Given the description of an element on the screen output the (x, y) to click on. 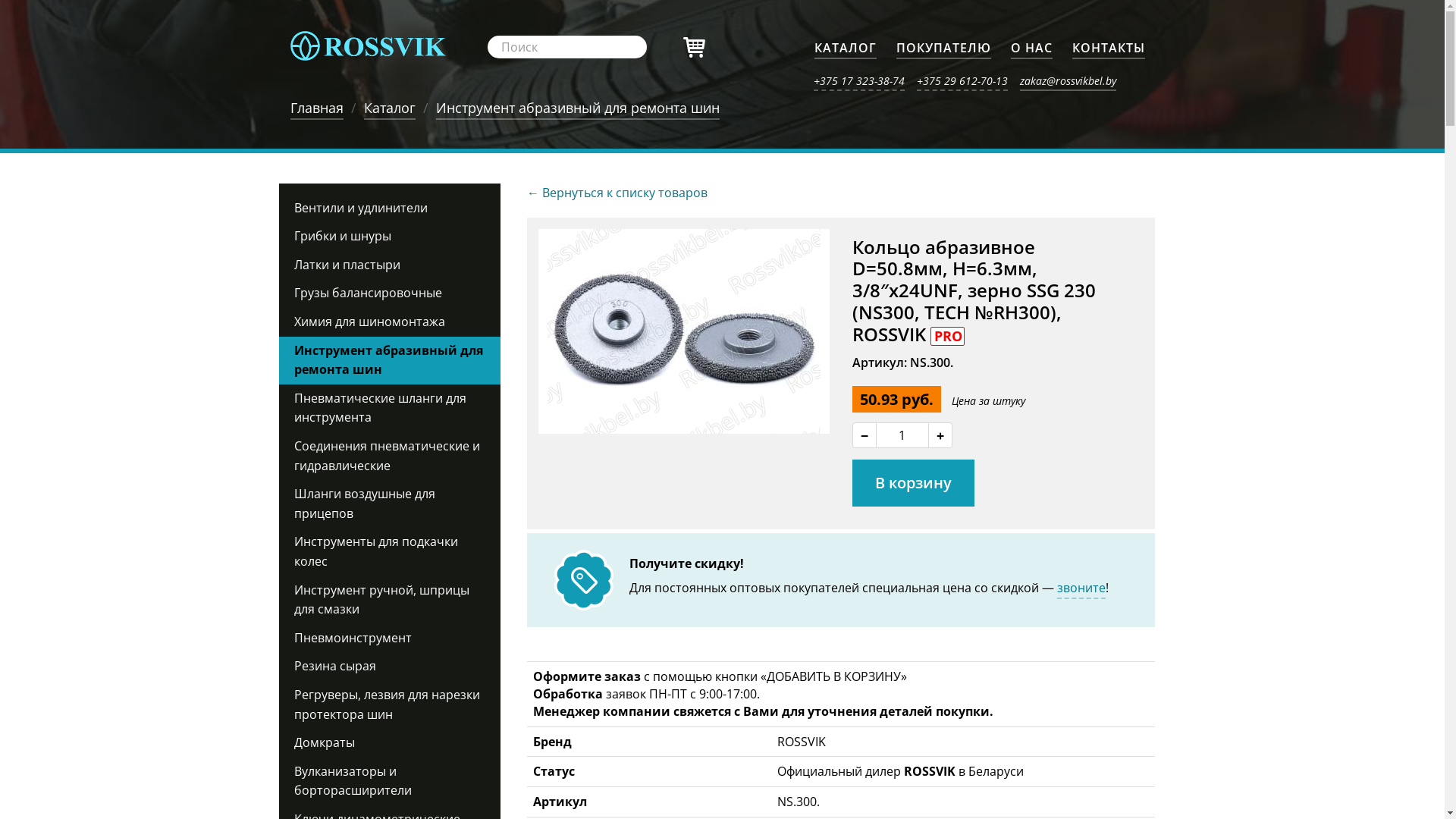
zakaz@rossvikbel.by Element type: text (1067, 80)
+ Element type: text (940, 435)
+375 29 612-70-13 Element type: text (961, 80)
+375 17 323-38-74 Element type: text (857, 80)
